Given the description of an element on the screen output the (x, y) to click on. 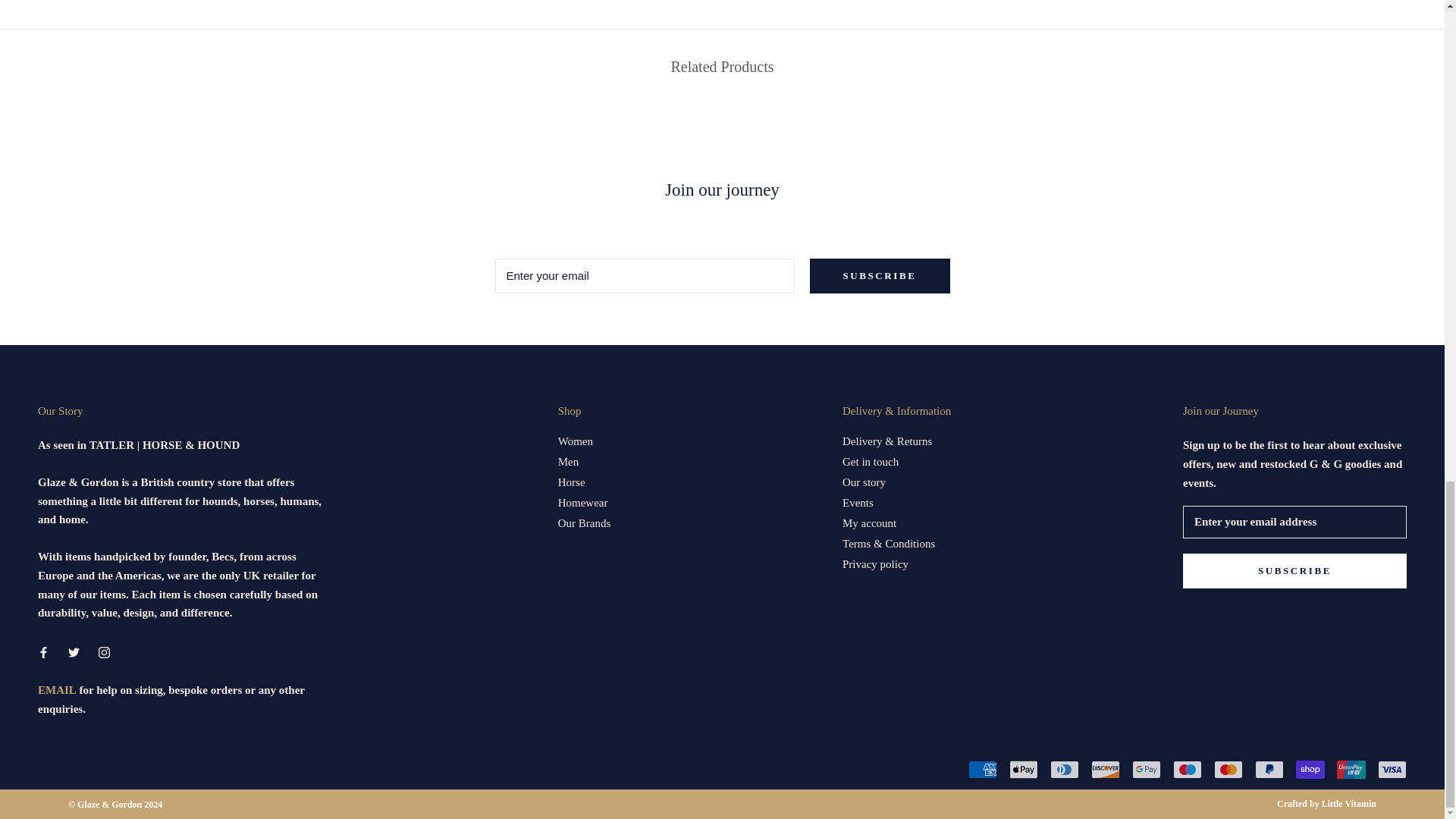
Union Pay (1350, 769)
Apple Pay (1023, 769)
Discover (1104, 769)
Mastercard (1228, 769)
Diners Club (1063, 769)
Google Pay (1146, 769)
Maestro (1187, 769)
PayPal (1269, 769)
Visa (1391, 769)
American Express (982, 769)
